Given the description of an element on the screen output the (x, y) to click on. 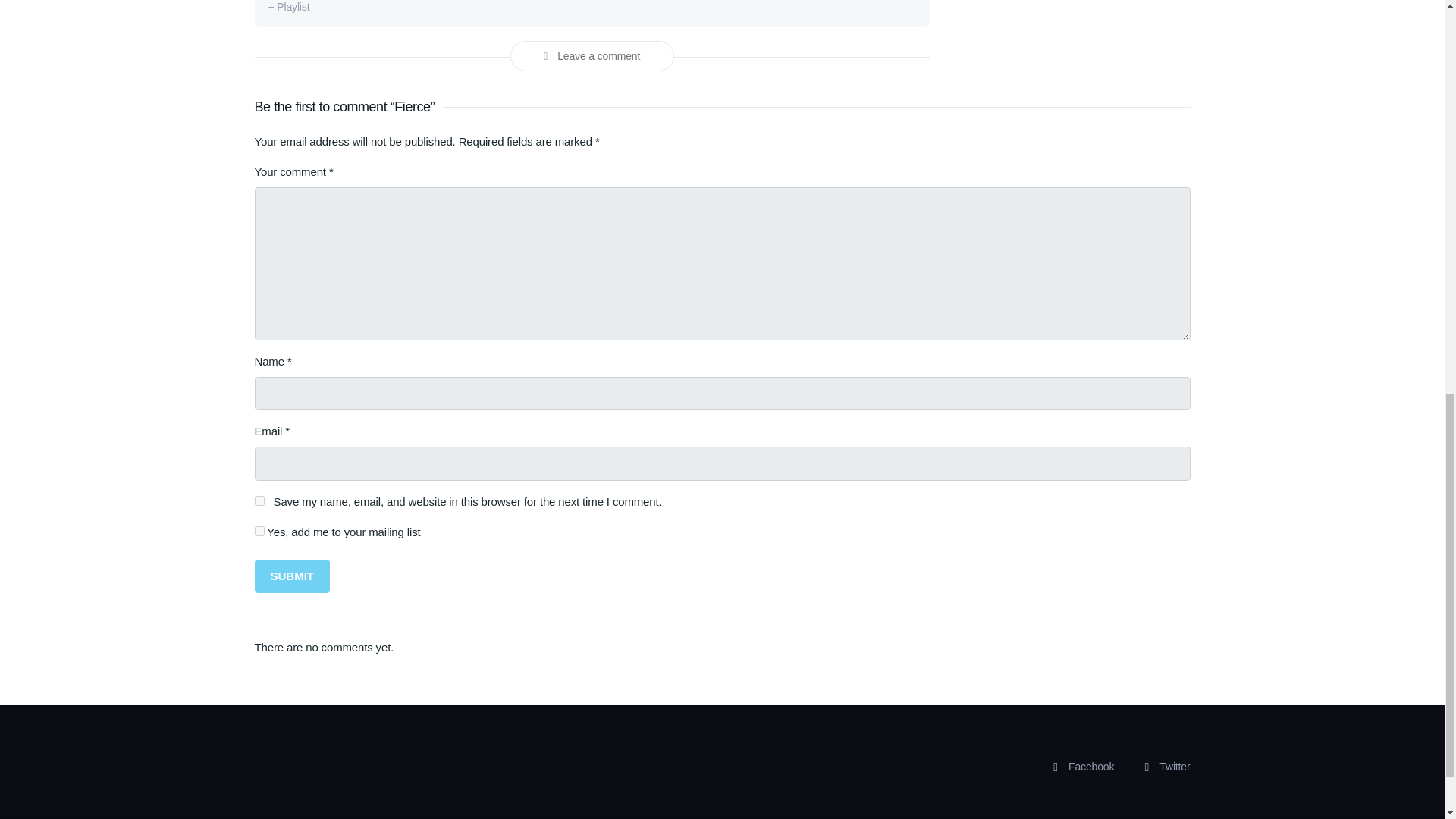
Submit (292, 576)
1 (259, 531)
yes (259, 501)
